Given the description of an element on the screen output the (x, y) to click on. 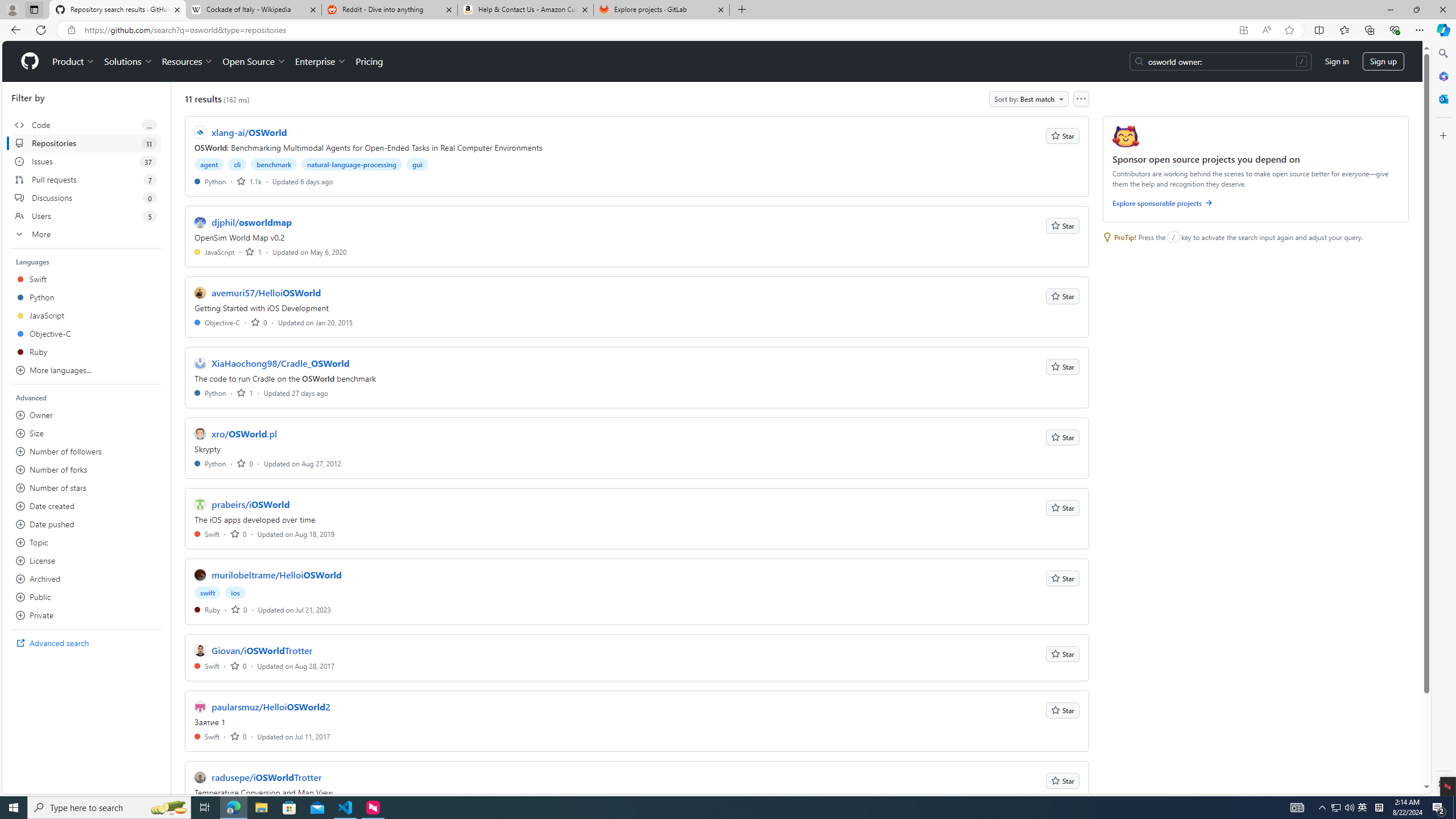
Updated on Jul 21, 2023 (293, 609)
Python (210, 462)
avemuri57/HelloiOSWorld (266, 292)
Swift (207, 736)
Sort by: Best match (1028, 98)
Updated on Jan 20, 2015 (315, 321)
Updated 27 days ago (295, 392)
